Given the description of an element on the screen output the (x, y) to click on. 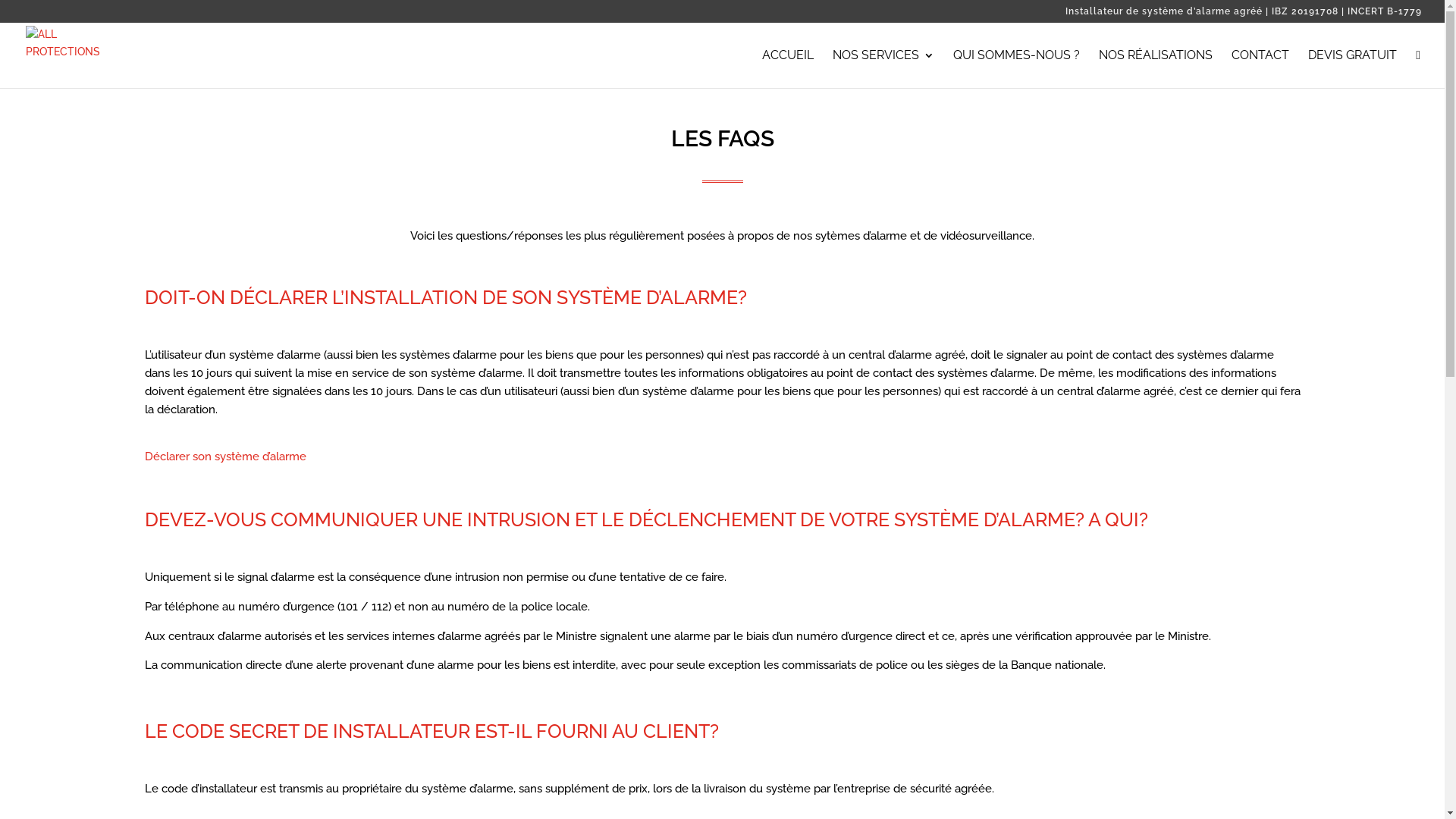
DEVIS GRATUIT Element type: text (1352, 68)
QUI SOMMES-NOUS ? Element type: text (1016, 68)
ACCUEIL Element type: text (787, 68)
CONTACT Element type: text (1260, 68)
NOS SERVICES Element type: text (883, 68)
Nous suivre Element type: hover (1417, 68)
